Given the description of an element on the screen output the (x, y) to click on. 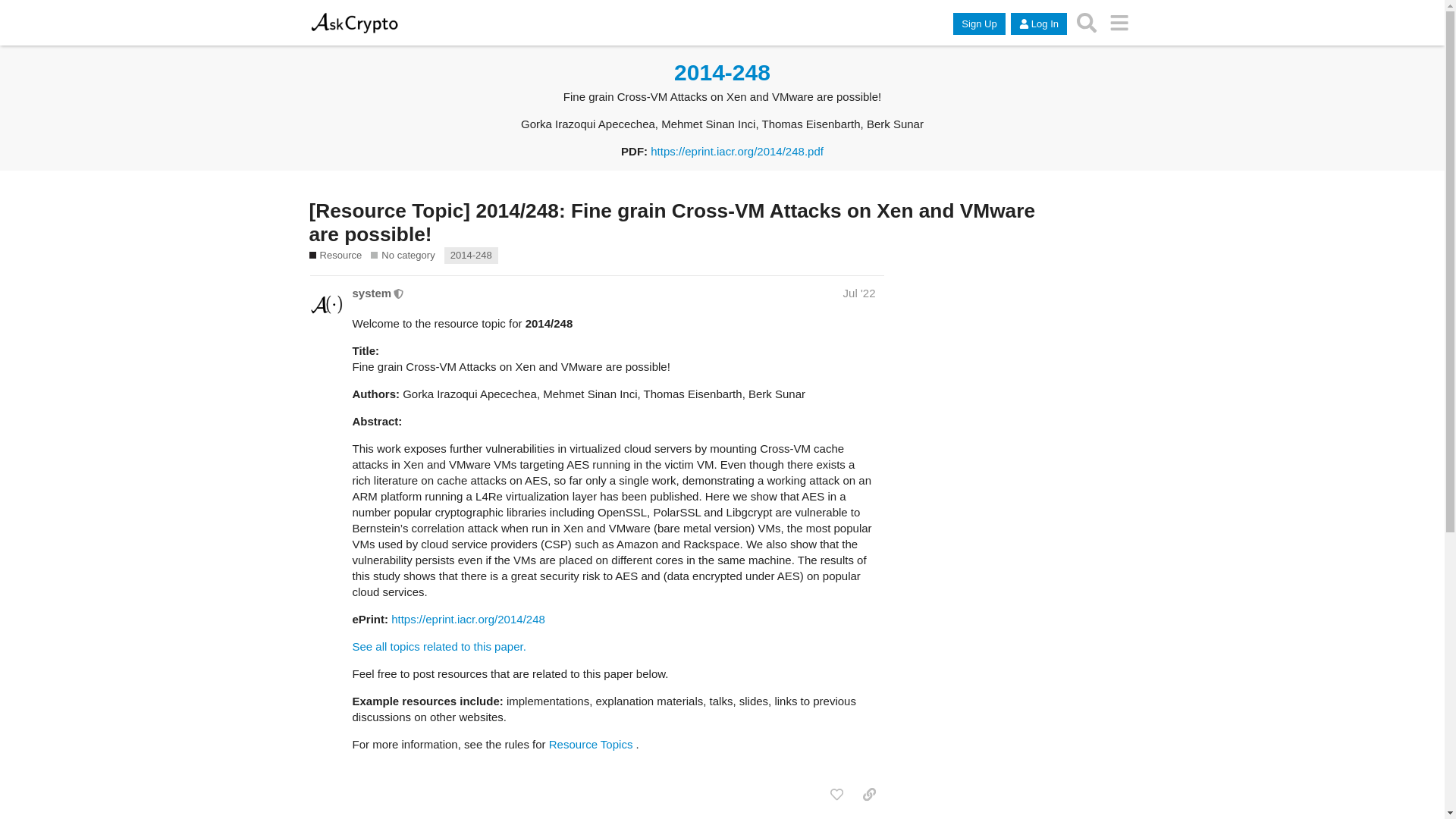
No category (402, 255)
Fine grain Cross-VM Attacks on Xen and VMware are possible! (470, 255)
2014-248 (470, 255)
Post date (859, 292)
system (371, 293)
Jul '22 (859, 292)
Sign Up (978, 24)
Search (1086, 22)
Log In (1038, 24)
like this post (836, 794)
